Given the description of an element on the screen output the (x, y) to click on. 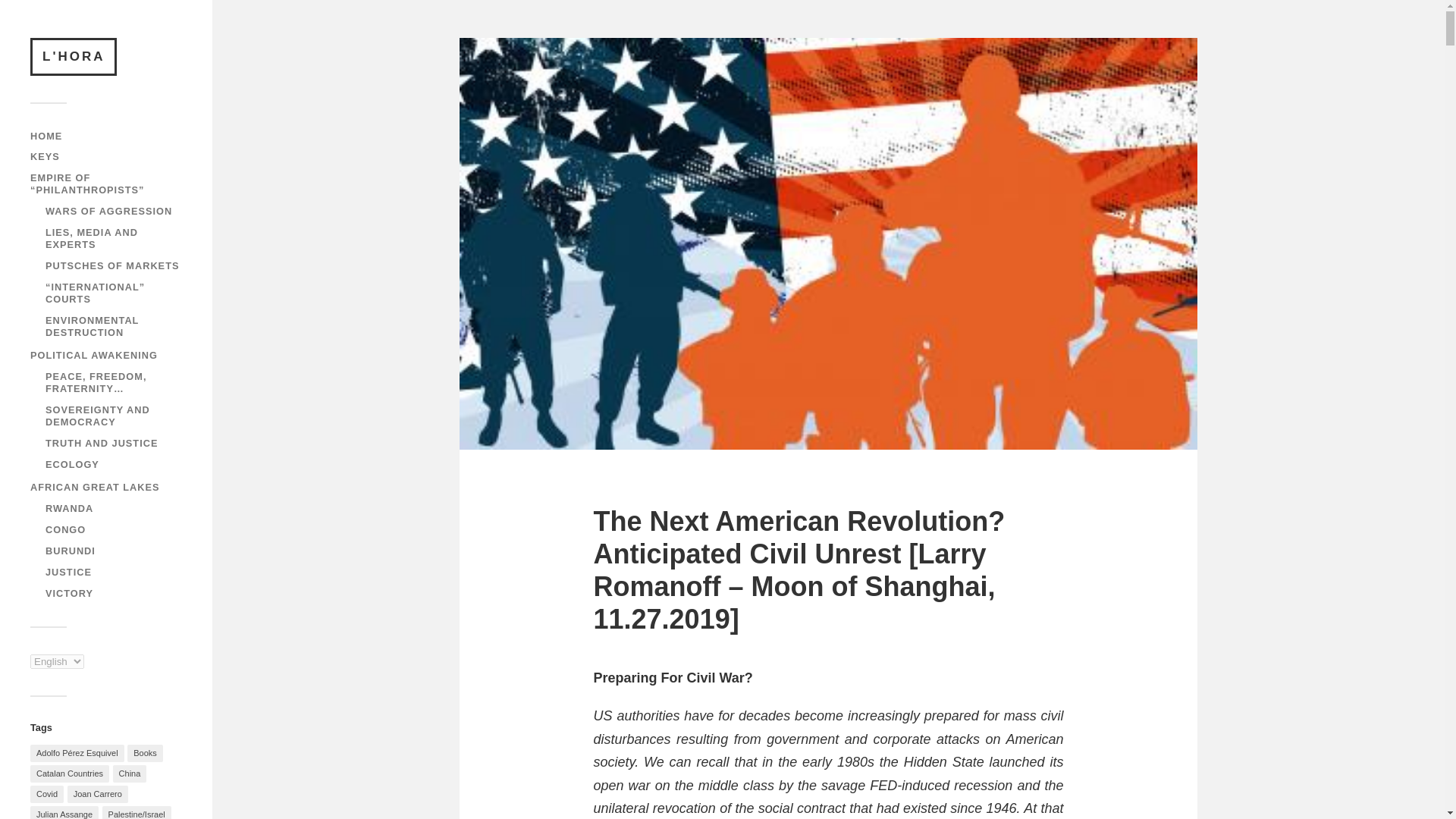
WARS OF AGGRESSION (108, 211)
L'HORA (73, 56)
KEYS (44, 156)
HOME (46, 135)
LIES, MEDIA AND EXPERTS (91, 238)
